Given the description of an element on the screen output the (x, y) to click on. 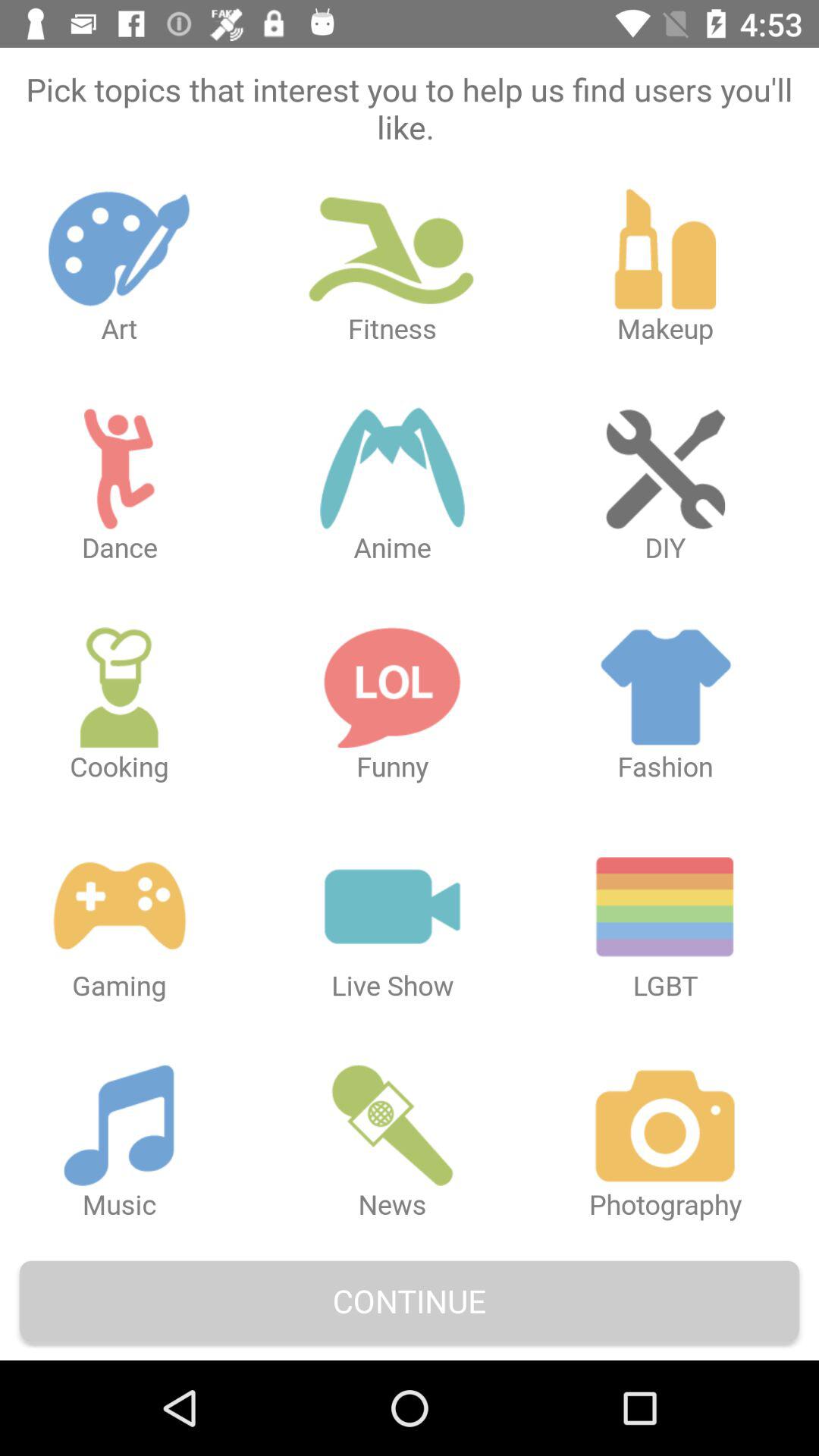
scroll until continue icon (409, 1300)
